Given the description of an element on the screen output the (x, y) to click on. 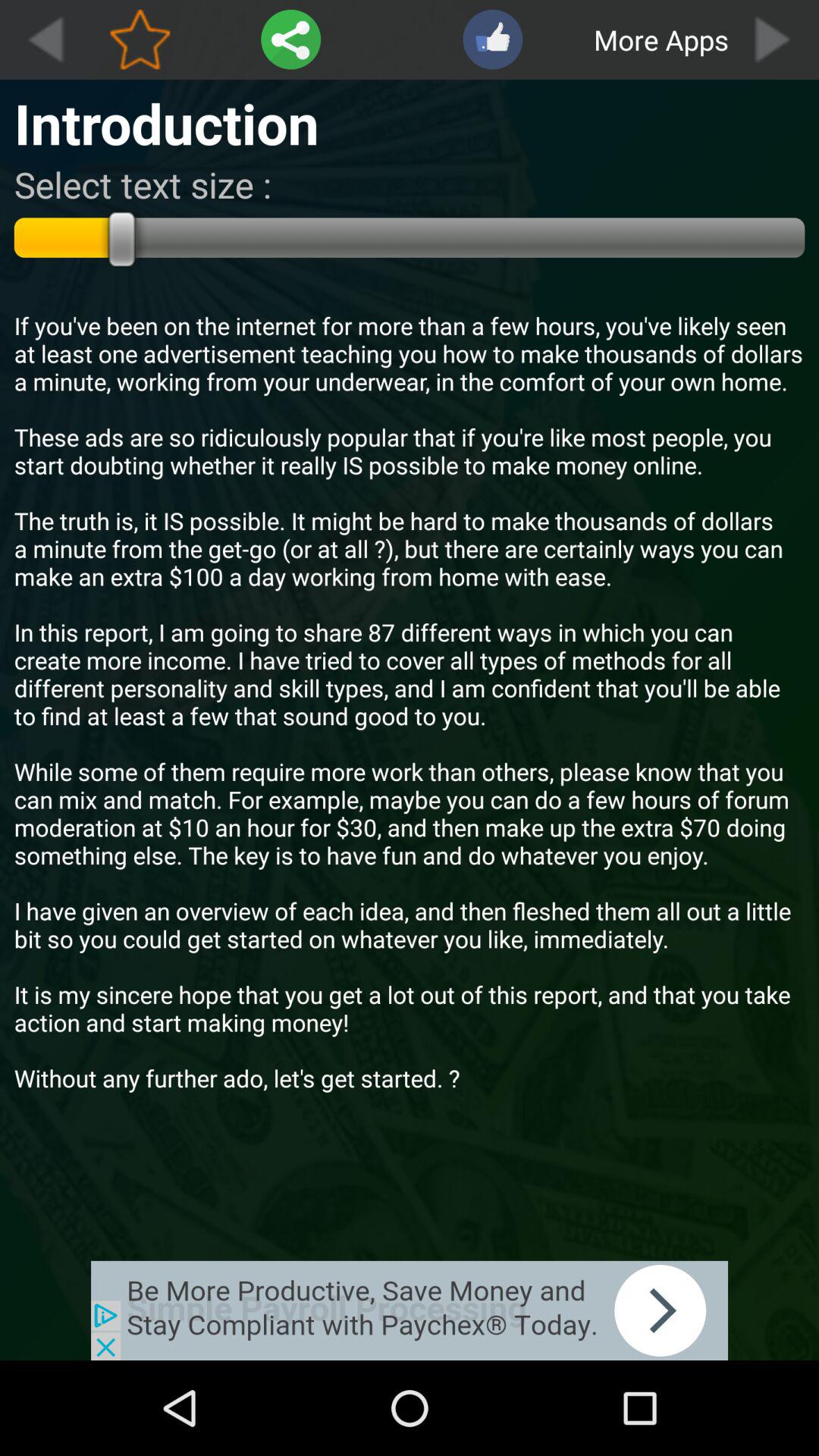
play the boxs (773, 39)
